Given the description of an element on the screen output the (x, y) to click on. 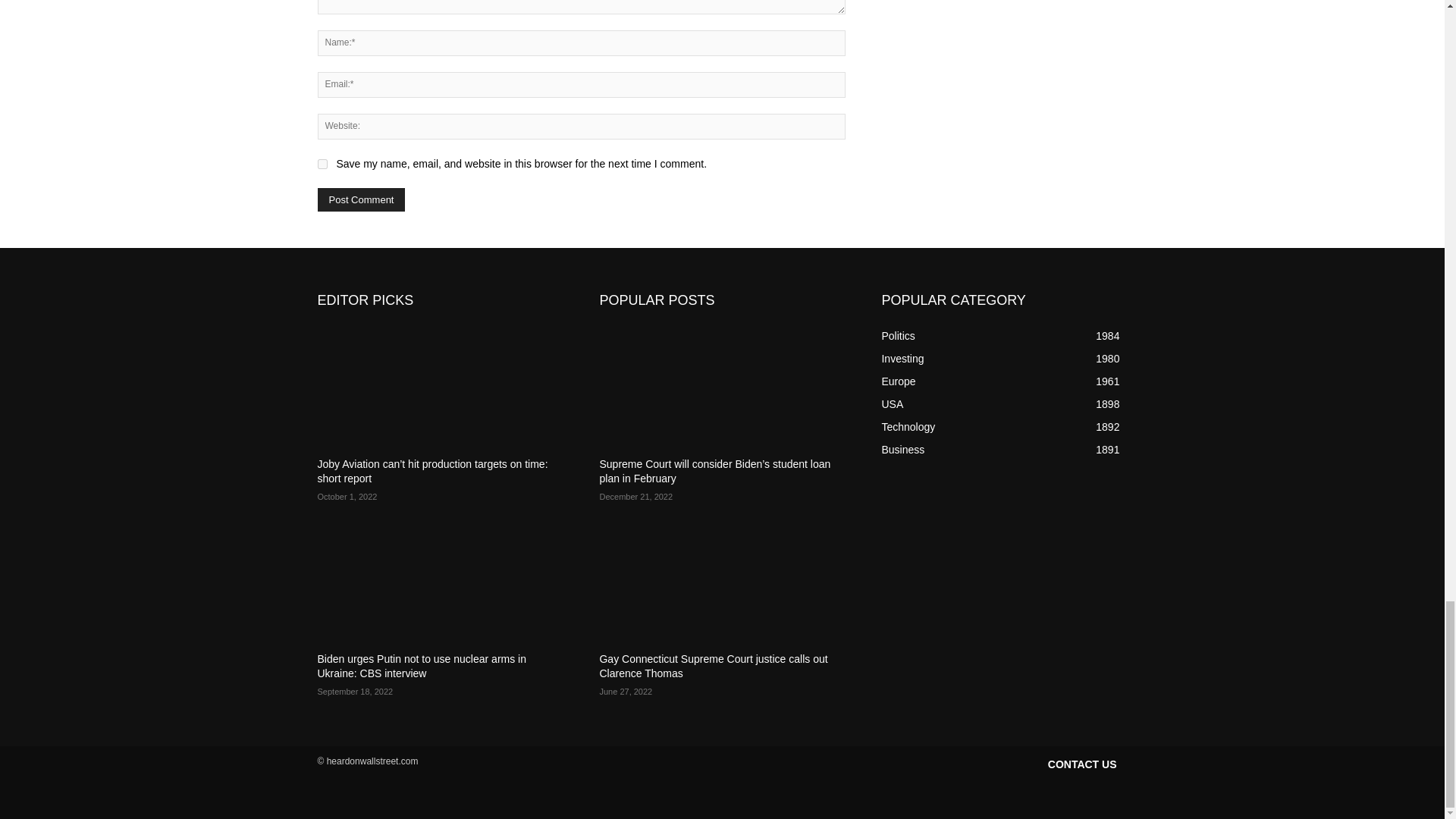
yes (321, 163)
Post Comment (360, 199)
